Given the description of an element on the screen output the (x, y) to click on. 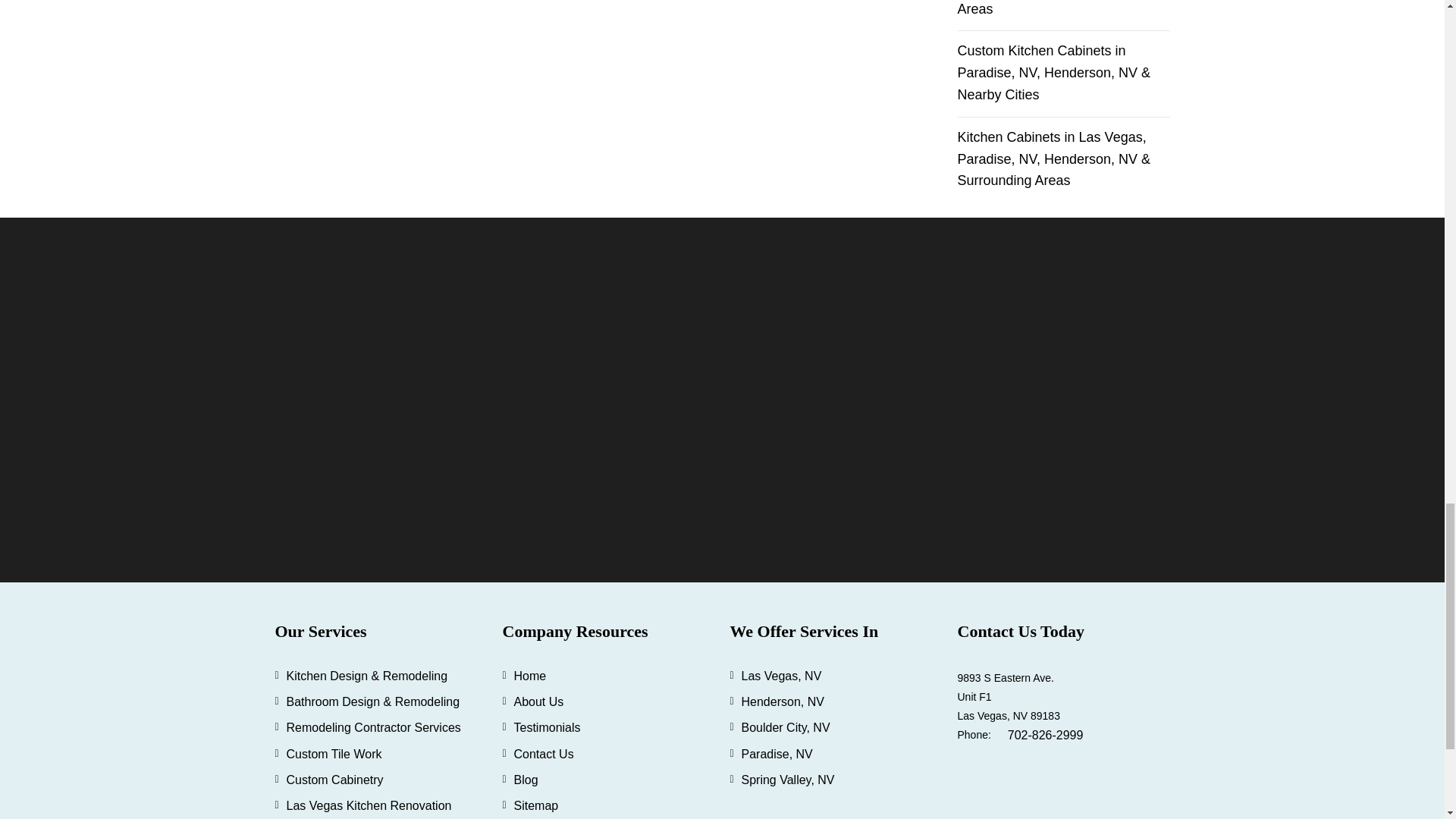
Custom Cabinetry (335, 779)
Las Vegas Kitchen Renovation (368, 805)
Remodeling Contractor Services (373, 727)
Custom Tile Work (333, 753)
